Given the description of an element on the screen output the (x, y) to click on. 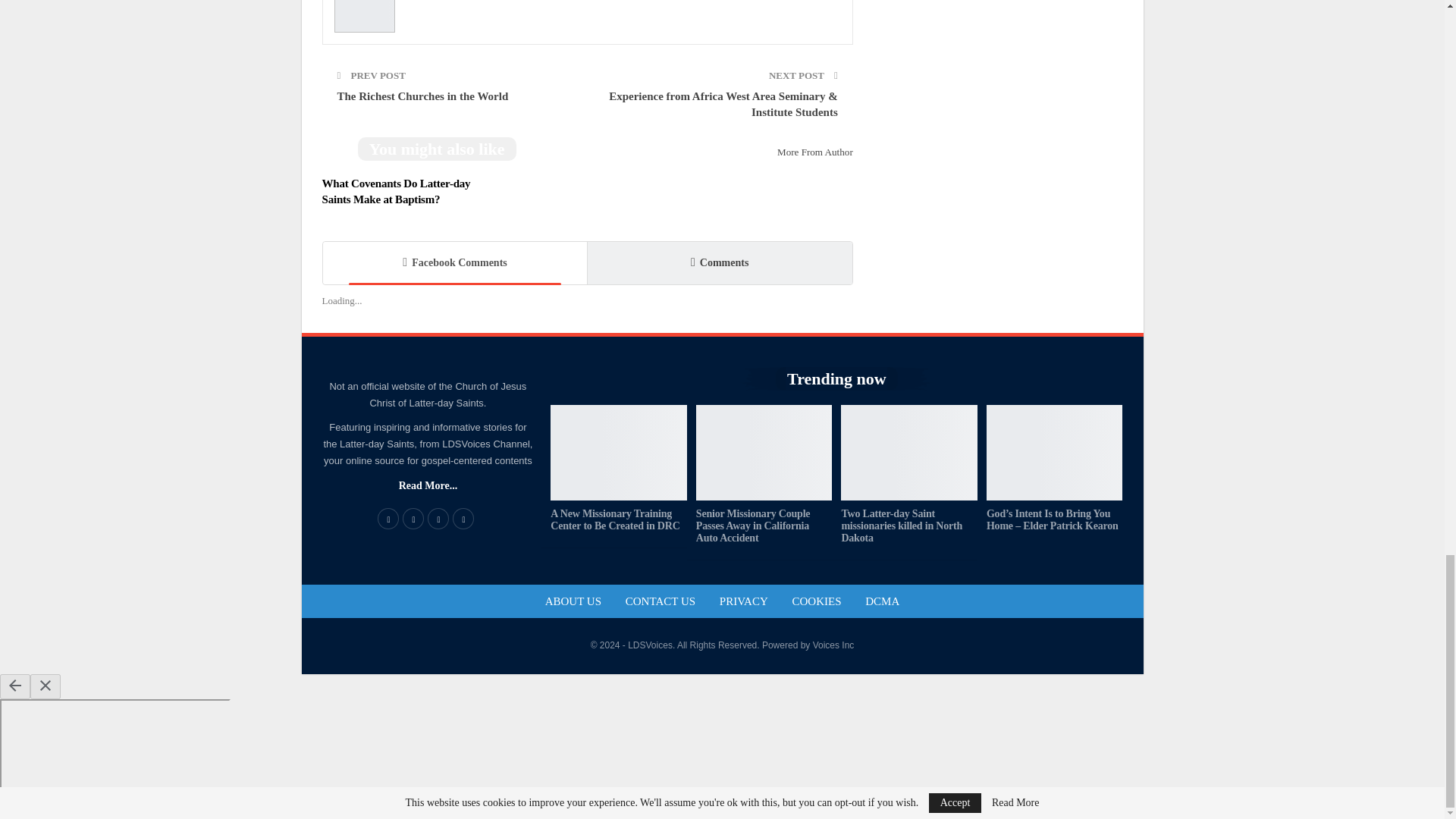
What Covenants Do Latter-day Saints Make at Baptism? (395, 191)
A New Missionary Training Center to Be Created in DRC (618, 452)
